Given the description of an element on the screen output the (x, y) to click on. 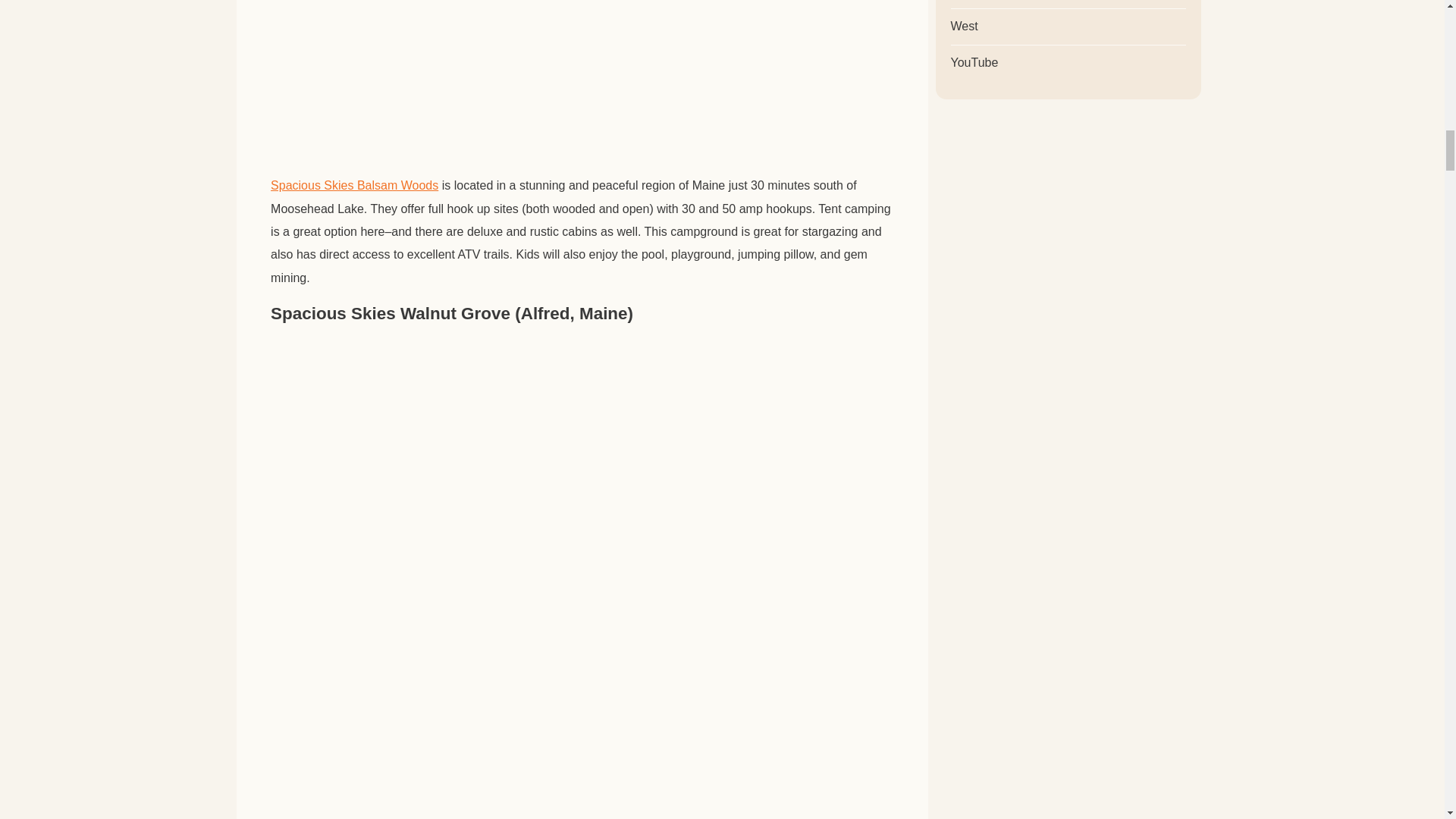
Spacious Skies Balsam Woods (354, 185)
